Given the description of an element on the screen output the (x, y) to click on. 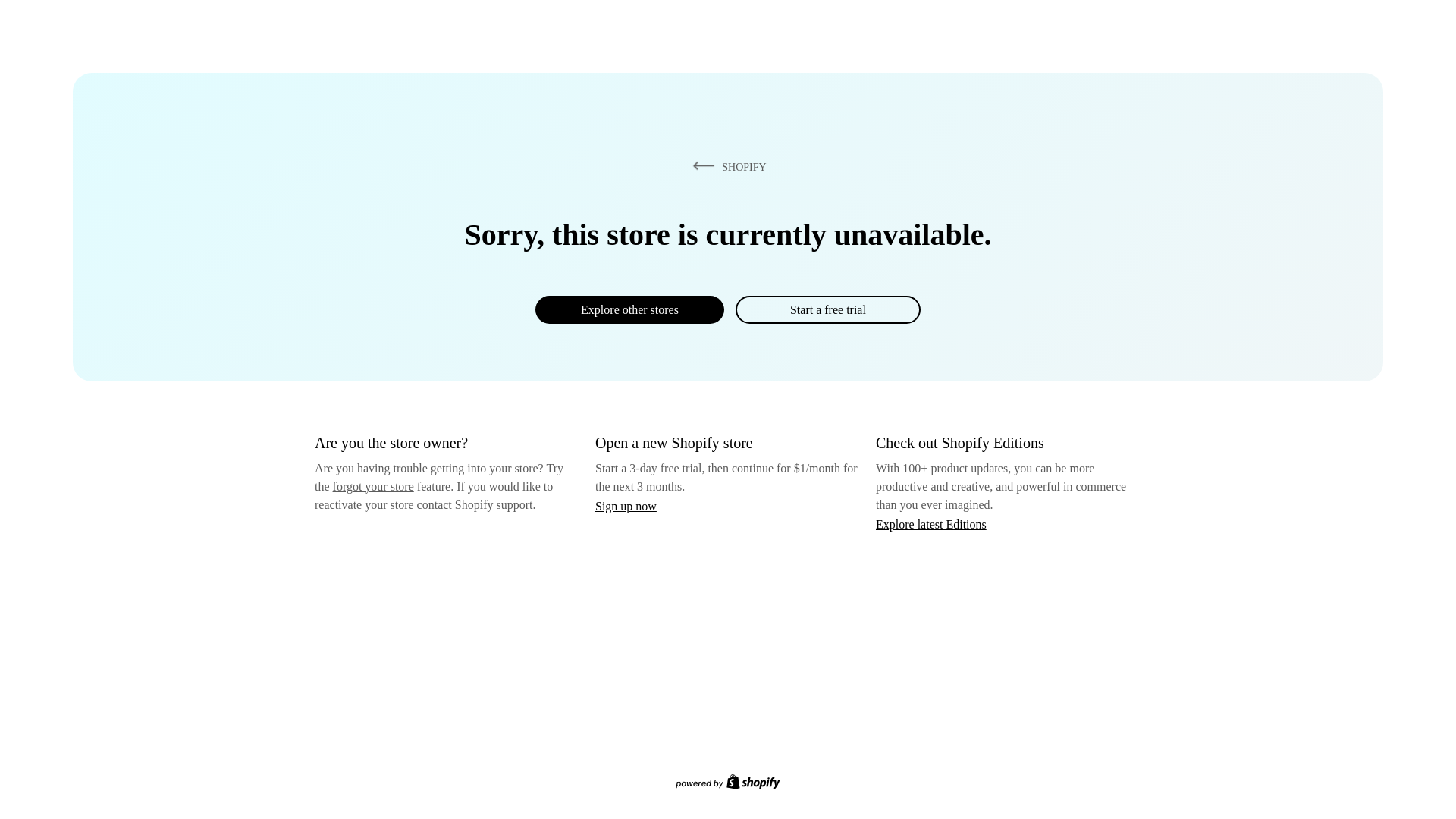
Shopify support (493, 504)
SHOPIFY (726, 166)
Explore latest Editions (931, 523)
Explore other stores (629, 309)
forgot your store (373, 486)
Start a free trial (827, 309)
Sign up now (625, 505)
